Given the description of an element on the screen output the (x, y) to click on. 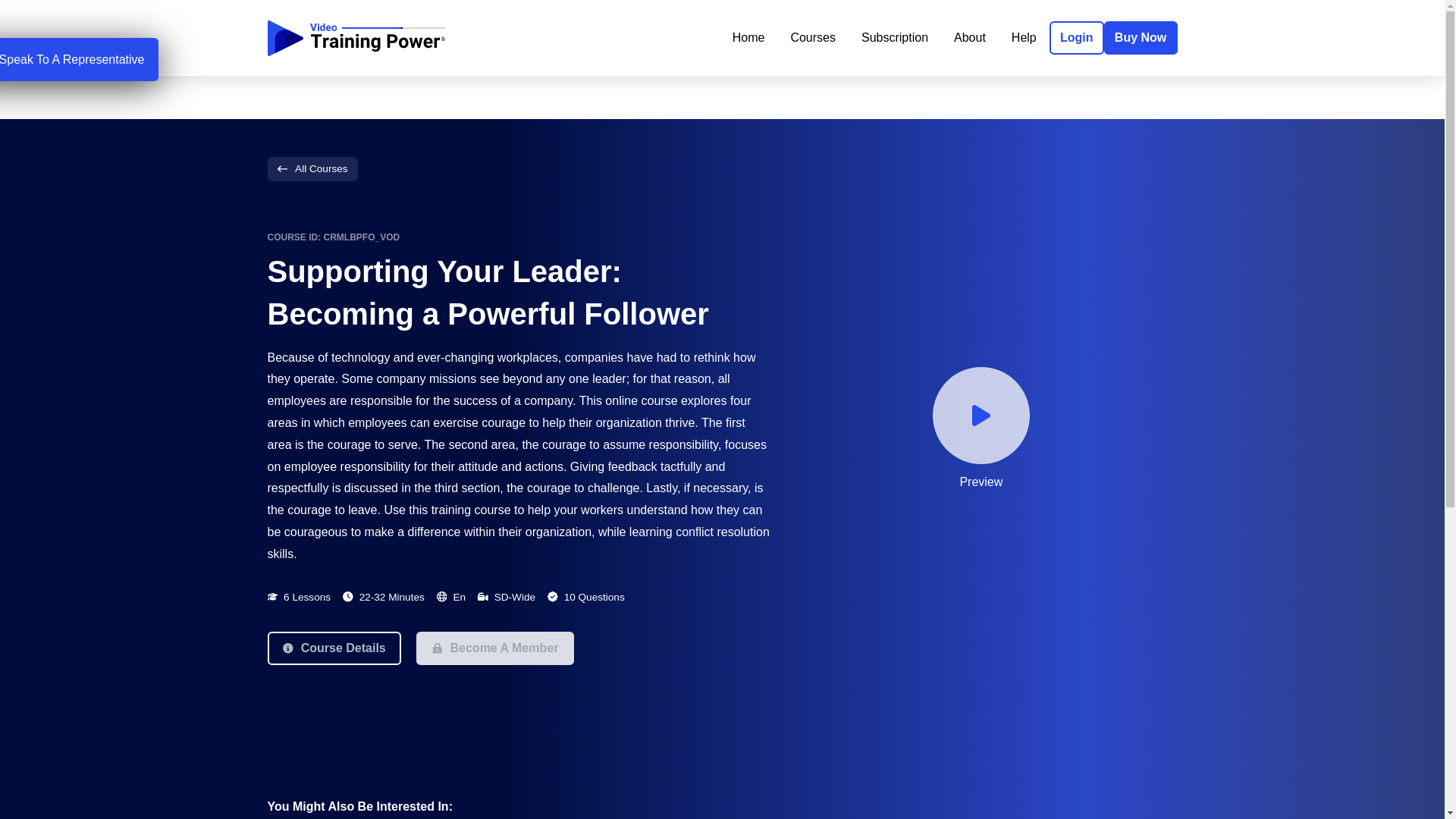
Courses (812, 38)
All Courses (311, 168)
Buy Now (1140, 37)
Login (1076, 37)
Become A Member (494, 648)
Subscription (894, 38)
